Given the description of an element on the screen output the (x, y) to click on. 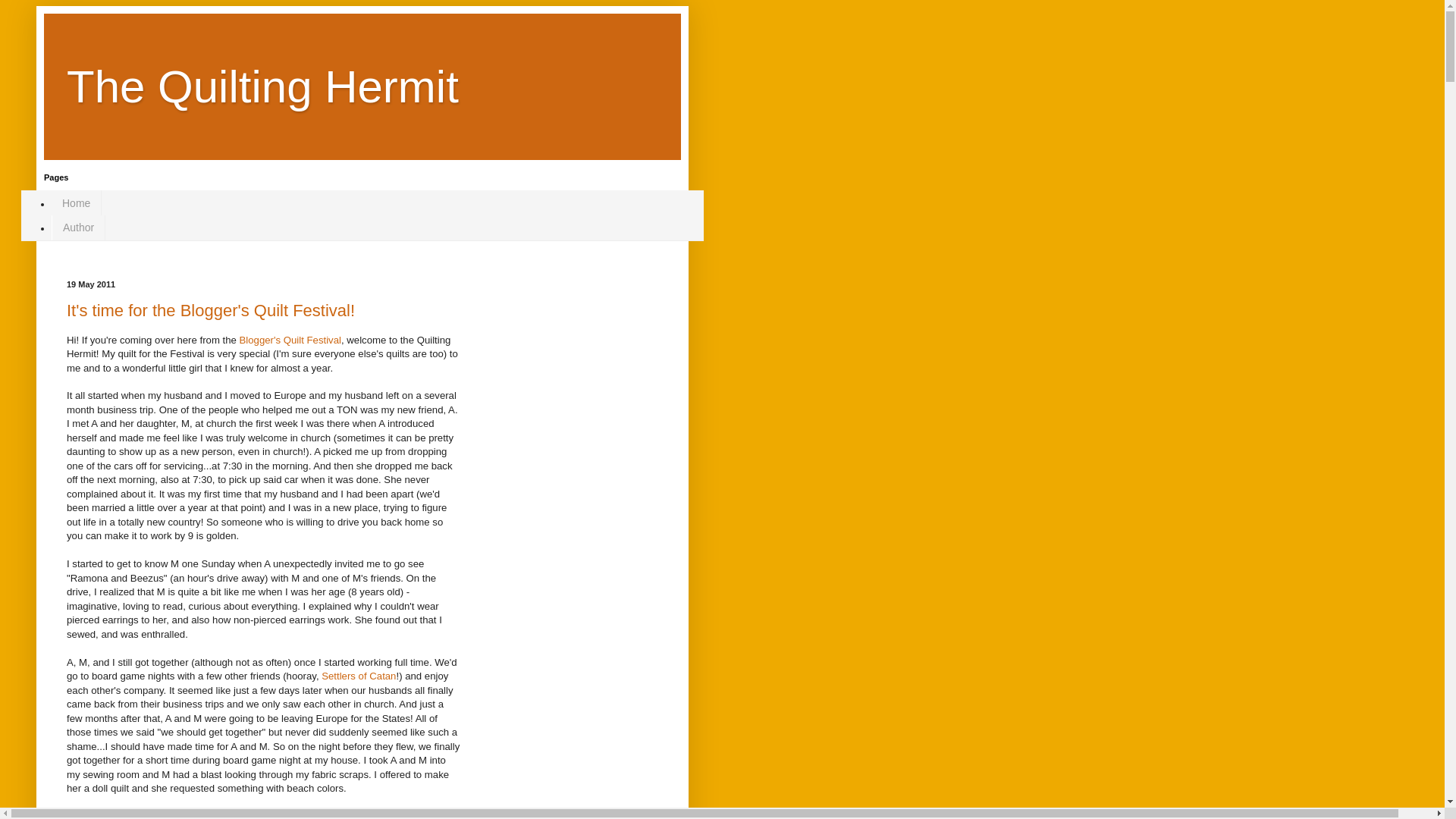
It's time for the Blogger's Quilt Festival! (210, 310)
The Quilting Hermit (262, 86)
Blogger's Quilt Festival (290, 339)
Author (77, 227)
Settlers of Catan (358, 675)
Home (75, 202)
